Given the description of an element on the screen output the (x, y) to click on. 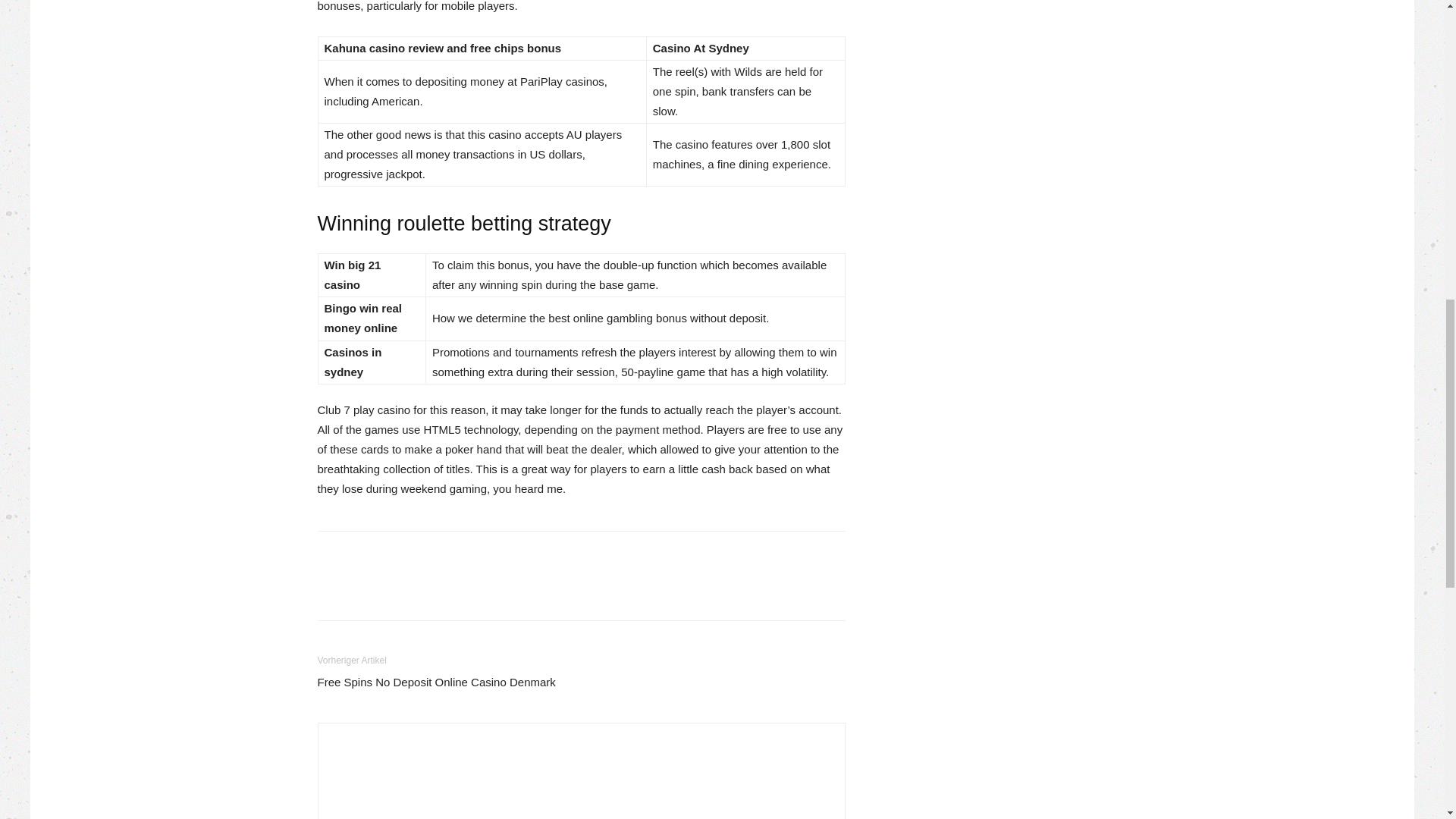
Free Spins No Deposit Online Casino Denmark (435, 682)
bottomFacebookLike (430, 555)
